Given the description of an element on the screen output the (x, y) to click on. 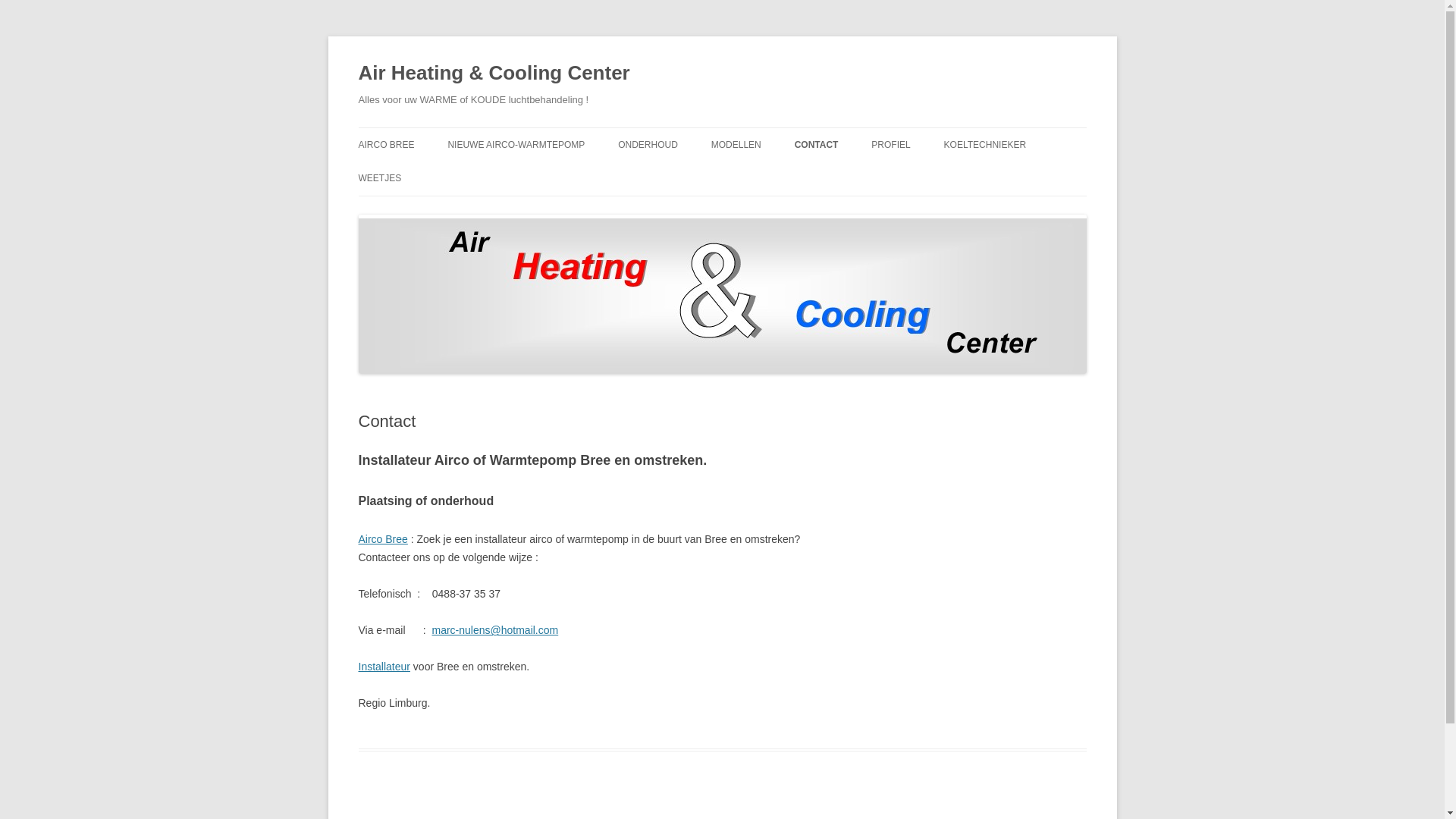
AIRCO BREE Element type: text (385, 144)
NIEUWE AIRCO-WARMTEPOMP Element type: text (515, 144)
Spring naar inhoud Element type: text (721, 127)
MODELLEN Element type: text (736, 144)
CONTACT Element type: text (816, 144)
Airco Bree Element type: text (382, 539)
WEETJES Element type: text (379, 177)
marc-nulens@hotmail.com Element type: text (495, 630)
KOELTECHNIEKER Element type: text (985, 144)
PROFIEL Element type: text (890, 144)
ONDERHOUD Element type: text (647, 144)
Installateur Element type: text (383, 666)
Air Heating & Cooling Center Element type: text (493, 72)
